Given the description of an element on the screen output the (x, y) to click on. 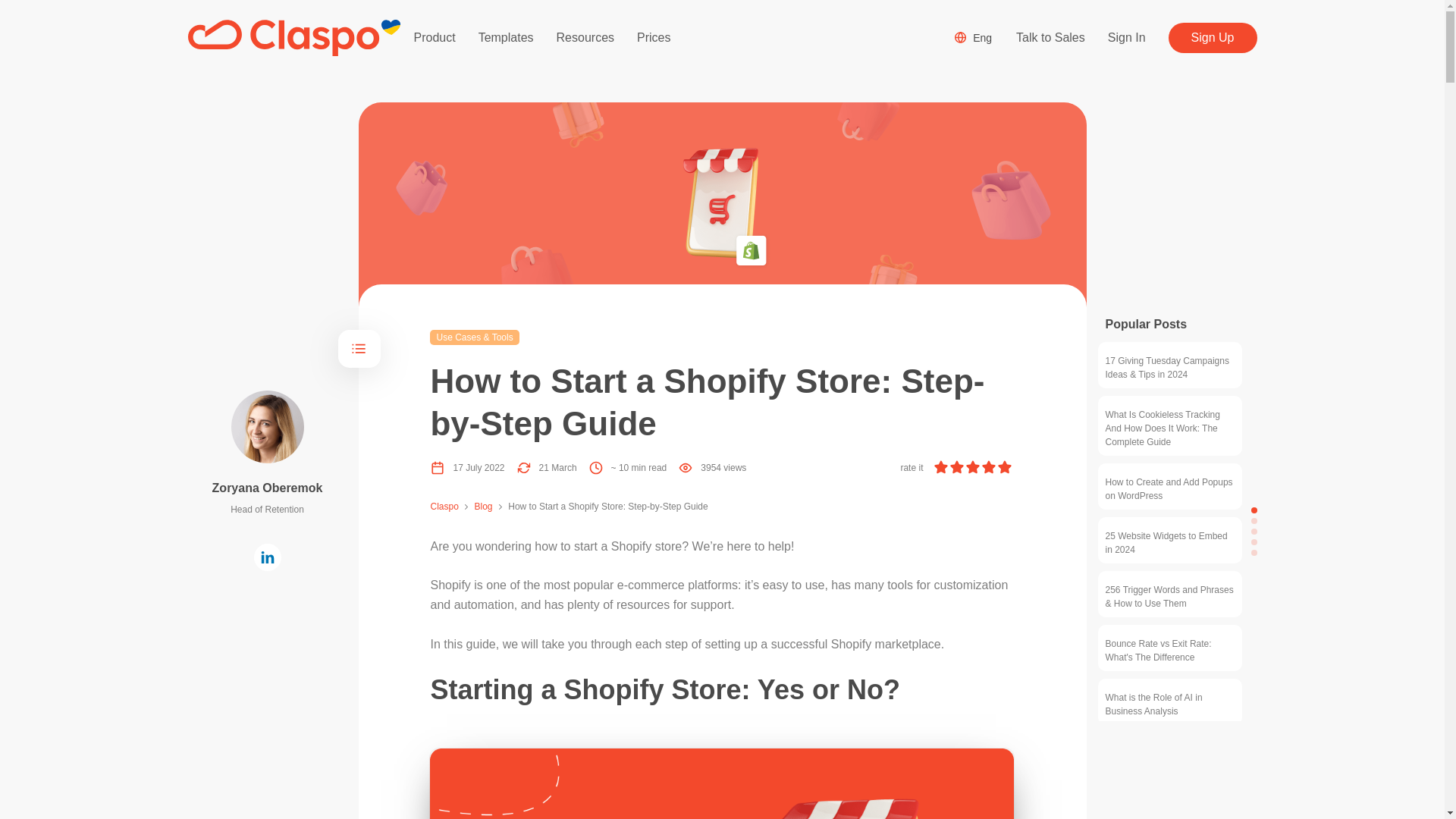
Templates (506, 37)
Prices (653, 37)
